Given the description of an element on the screen output the (x, y) to click on. 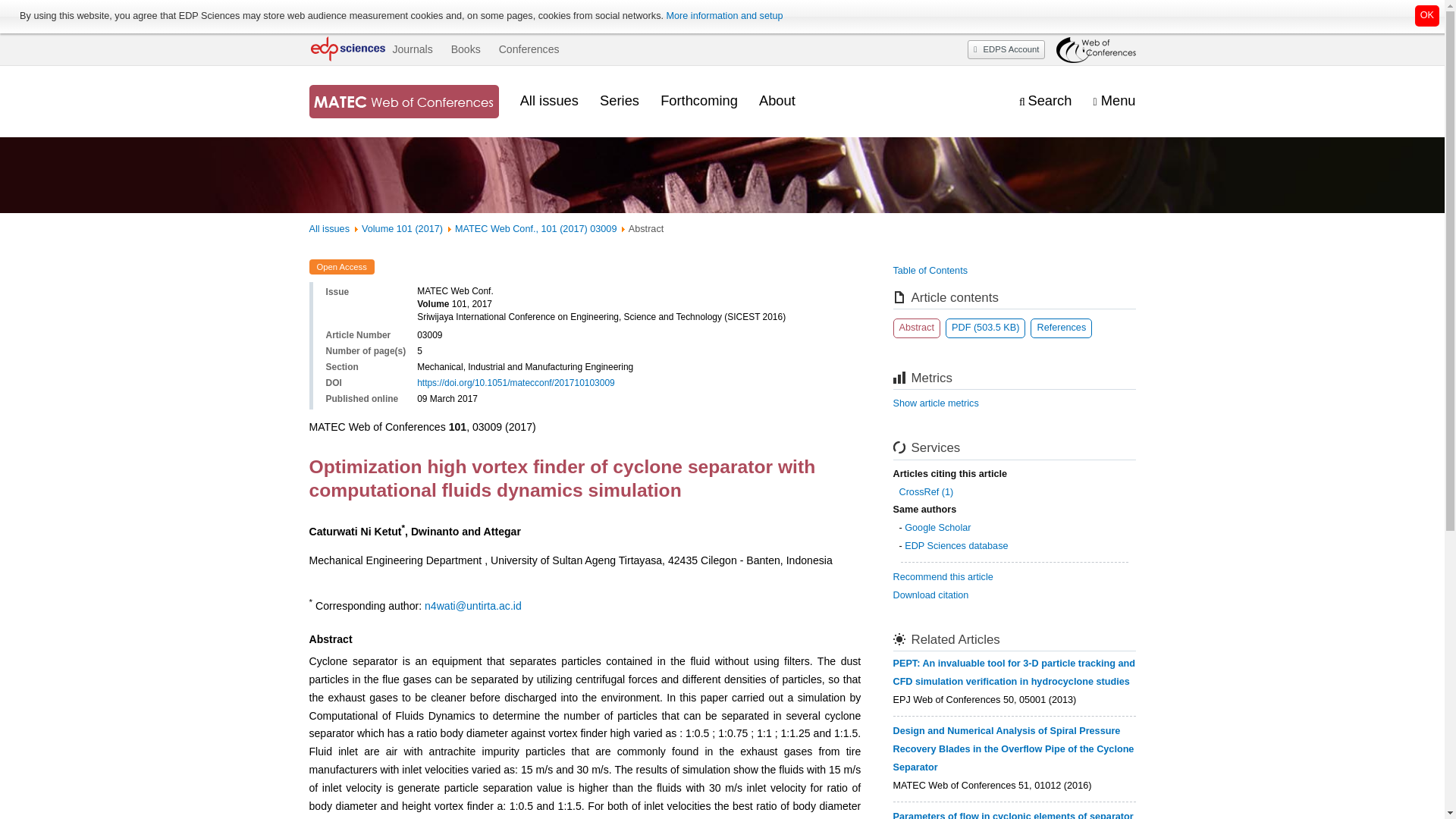
Journal homepage (403, 101)
Conferences (529, 49)
OK (1427, 15)
Abstract (916, 328)
Books (465, 49)
Click to close this notification (1427, 15)
Journals (411, 49)
More information and setup (724, 15)
Display the search engine (1045, 101)
